Given the description of an element on the screen output the (x, y) to click on. 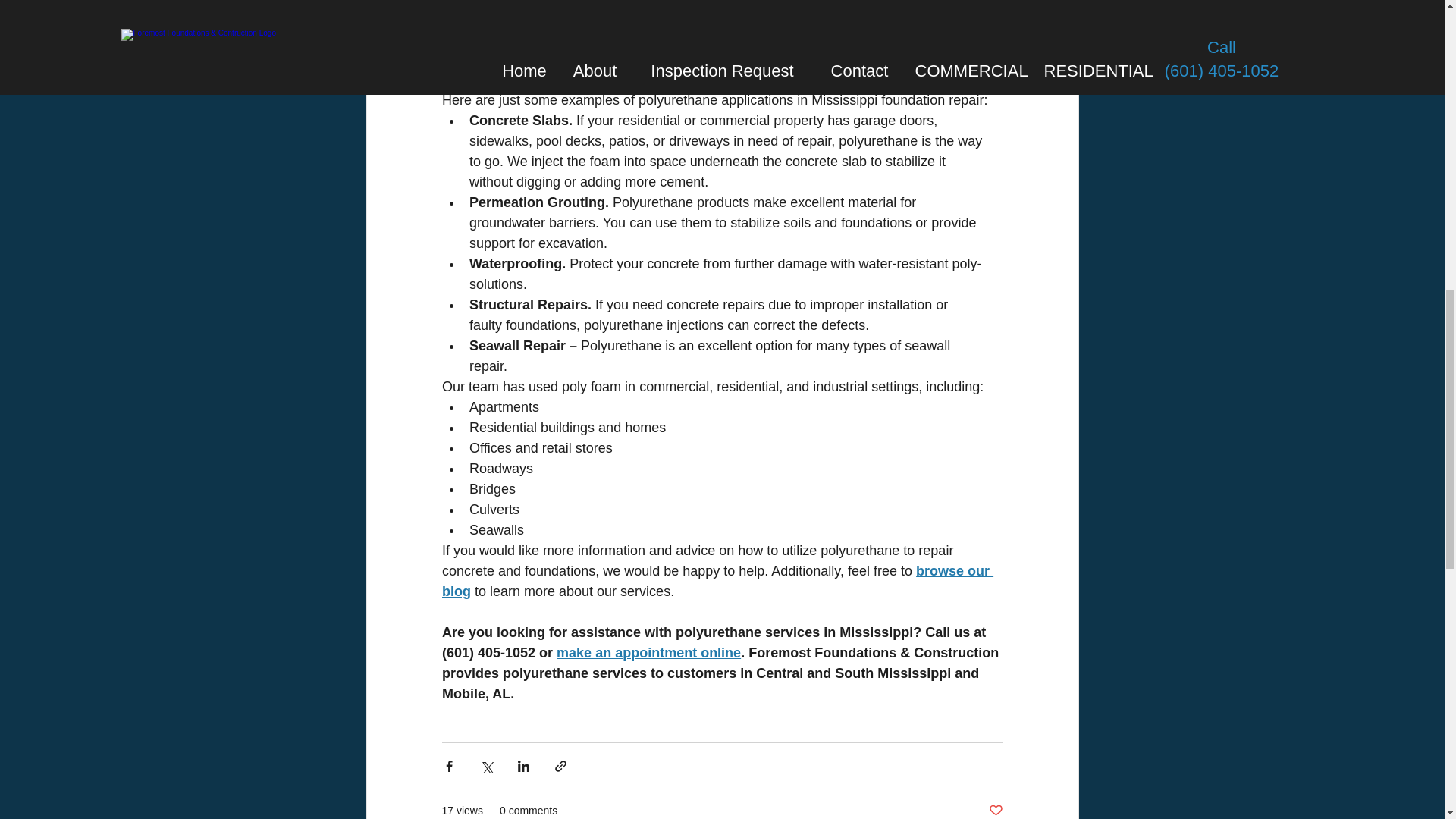
make an appointment online (648, 652)
browse our blog (716, 580)
Post not marked as liked (995, 811)
